Given the description of an element on the screen output the (x, y) to click on. 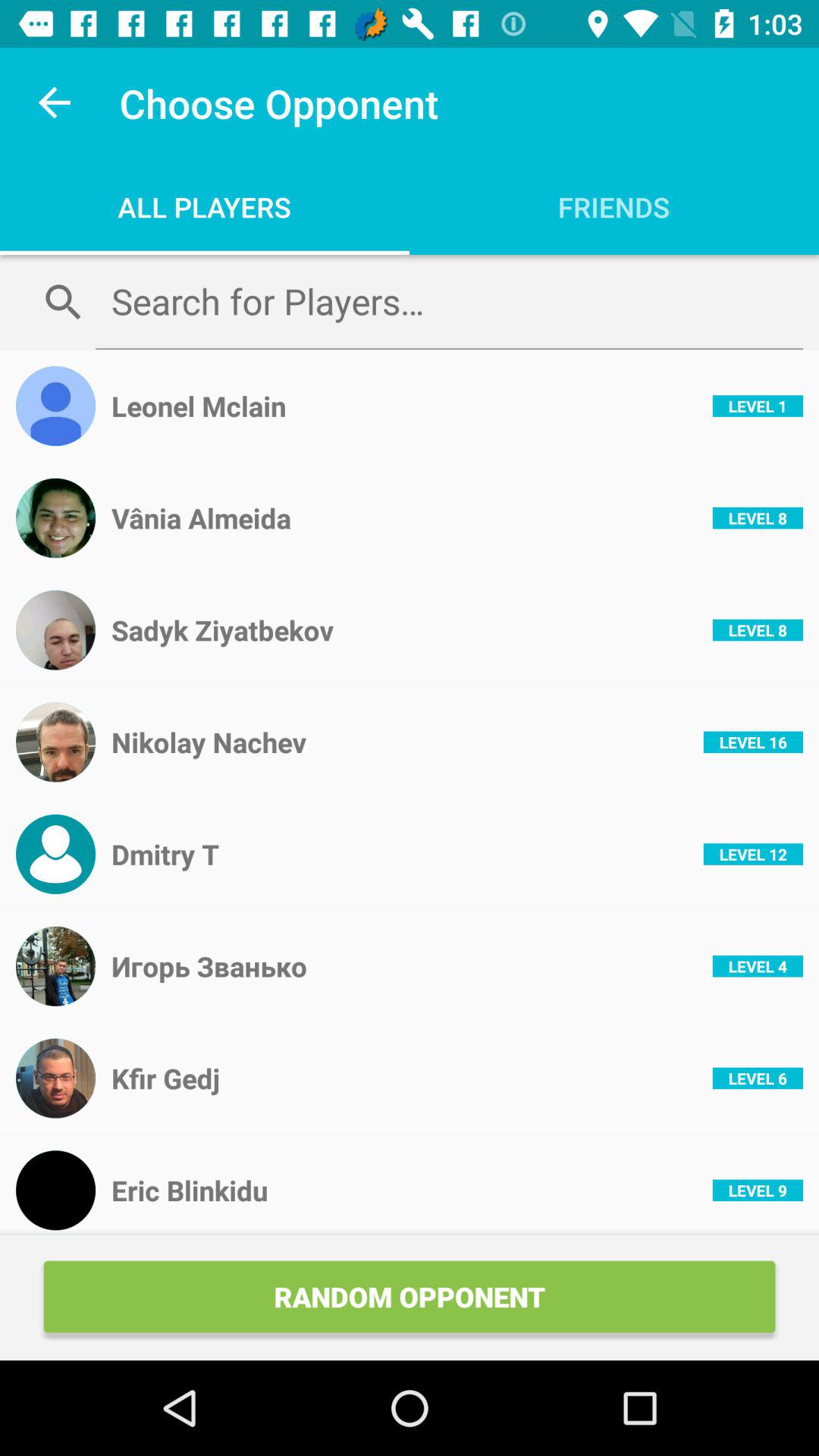
tap the icon above all players (55, 103)
